Given the description of an element on the screen output the (x, y) to click on. 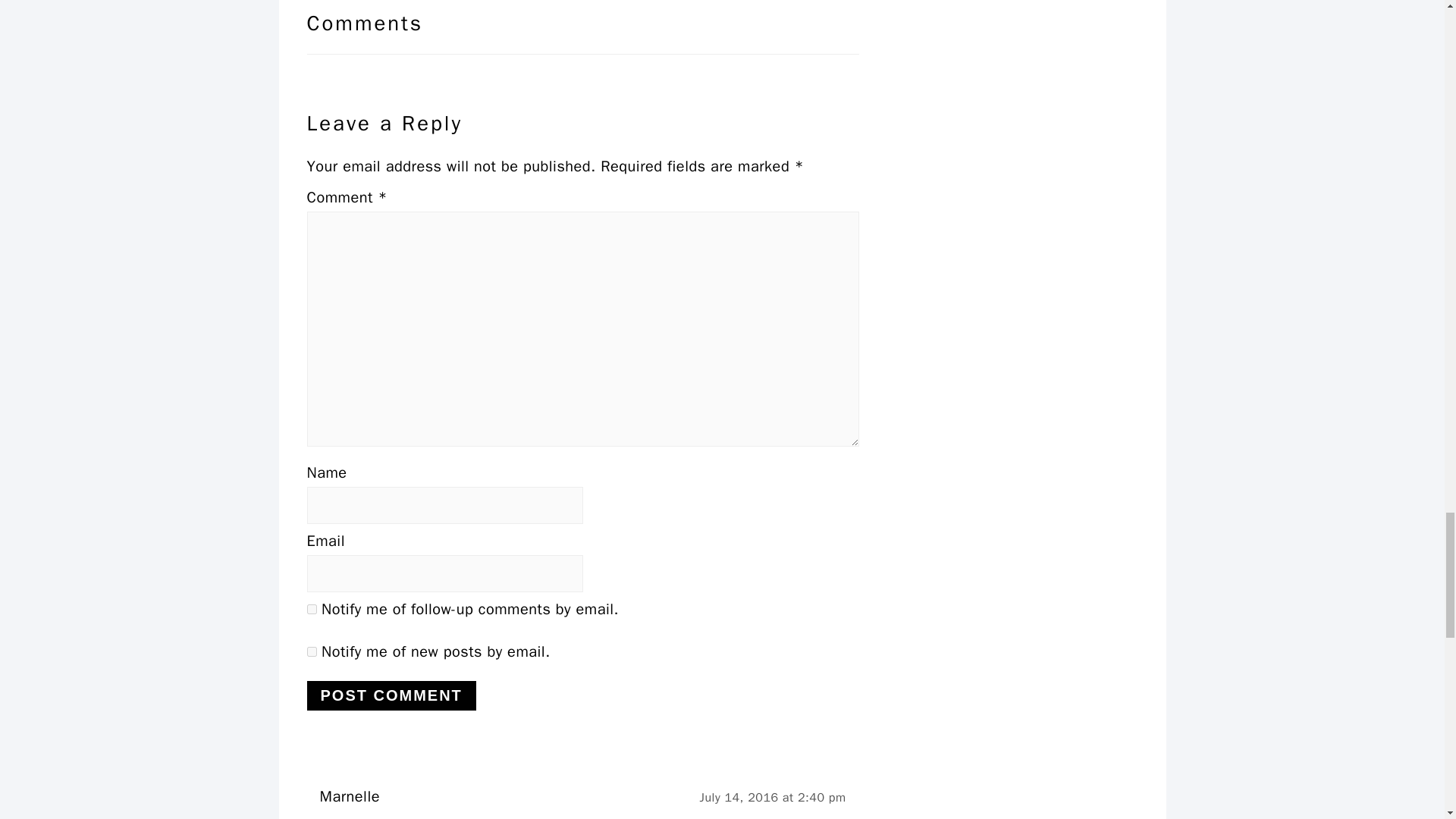
subscribe (310, 609)
subscribe (310, 651)
Post Comment (390, 695)
